Given the description of an element on the screen output the (x, y) to click on. 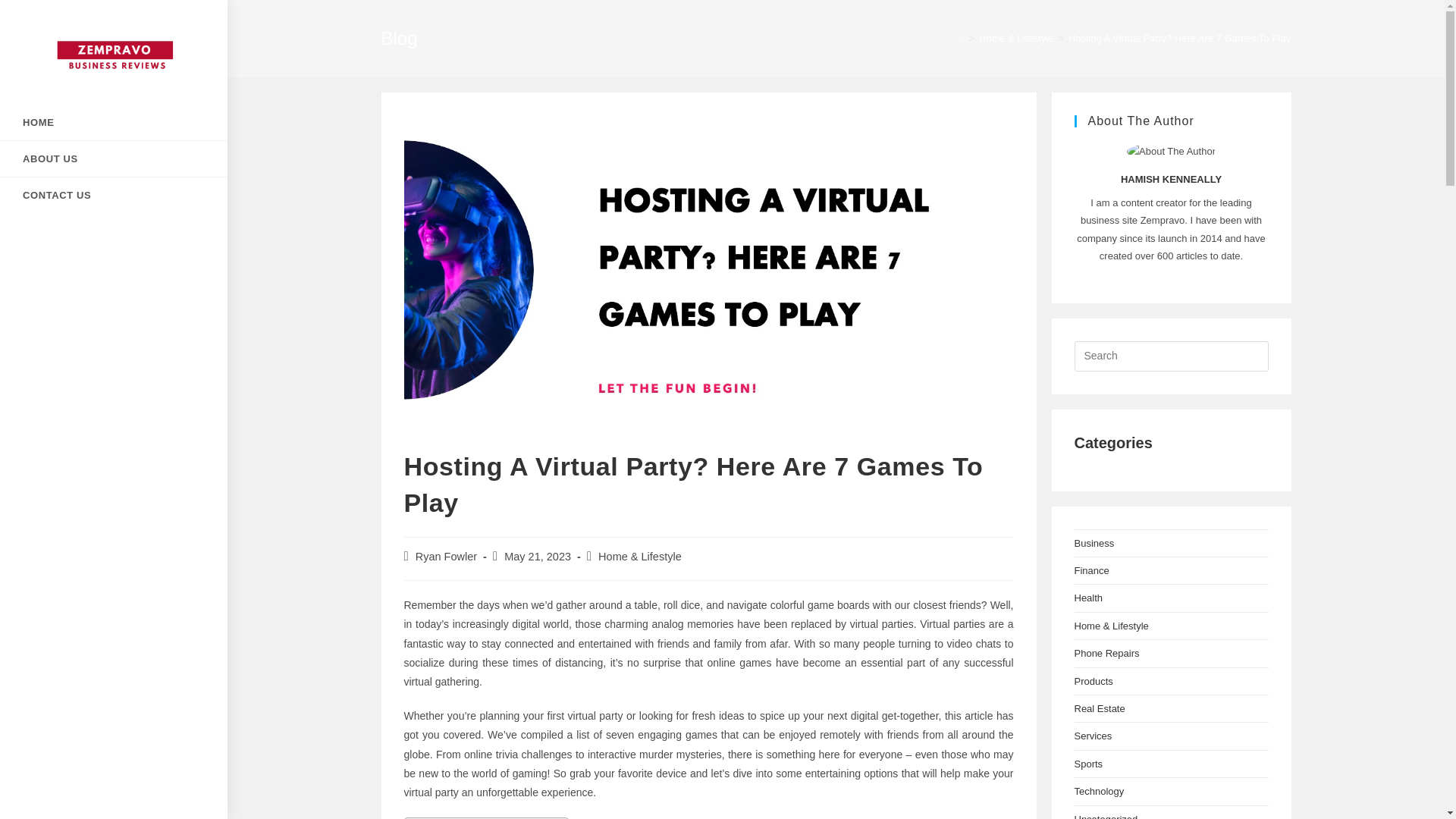
Business (1093, 542)
Real Estate (1099, 708)
Hosting A Virtual Party? Here Are 7 Games To Play (1179, 38)
Sports (1088, 763)
Phone Repairs (1106, 653)
Finance (1091, 570)
Ryan Fowler (445, 556)
HOME (113, 122)
Posts by Ryan Fowler (445, 556)
Services (1093, 736)
Technology (1099, 790)
ABOUT US (113, 158)
Products (1093, 681)
Health (1088, 597)
CONTACT US (113, 194)
